Given the description of an element on the screen output the (x, y) to click on. 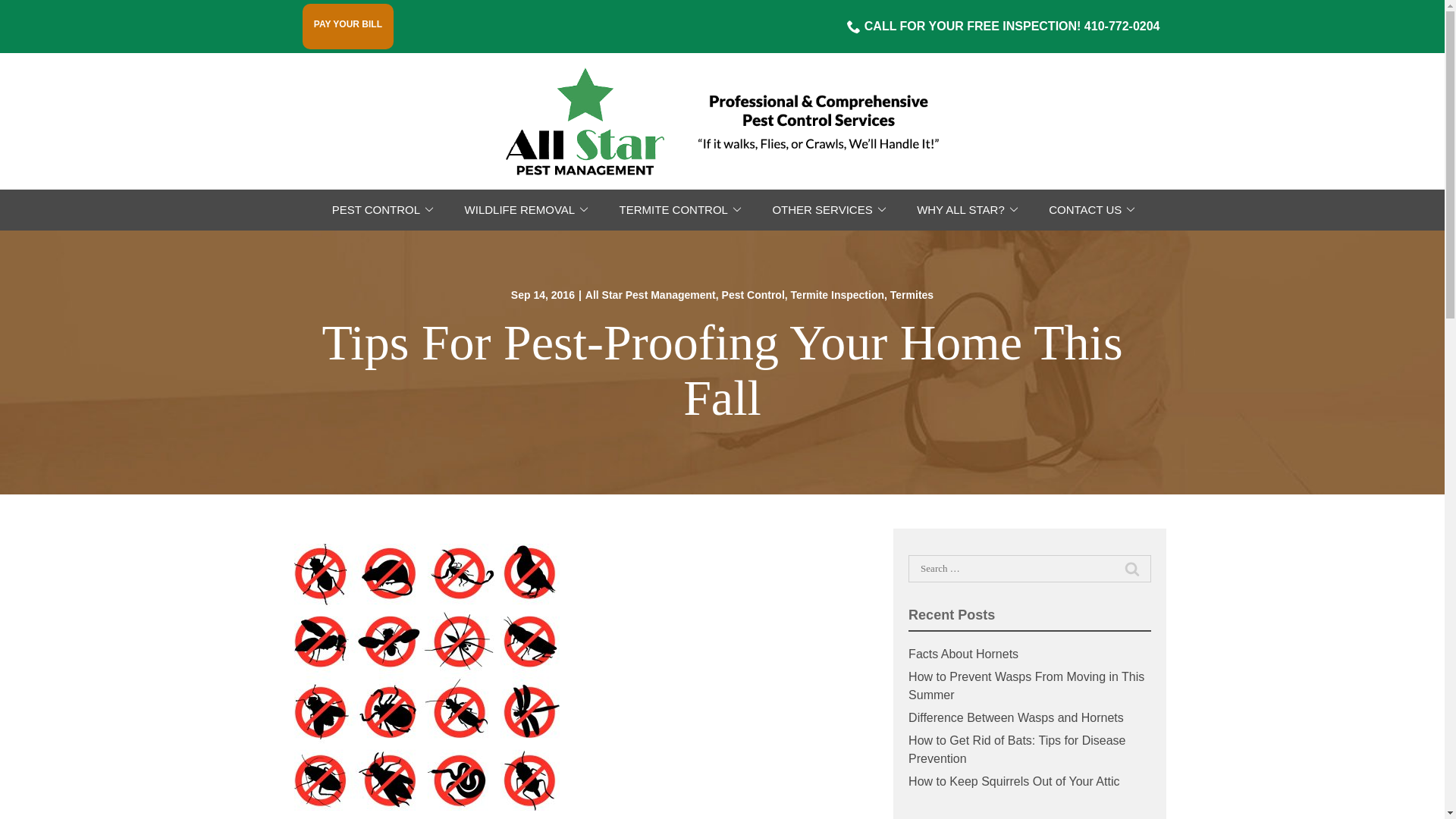
PAY YOUR BILL (347, 24)
CALL FOR YOUR FREE INSPECTION! 410-772-0204 (1003, 26)
Pests not wanted in Howard County home (426, 676)
